Given the description of an element on the screen output the (x, y) to click on. 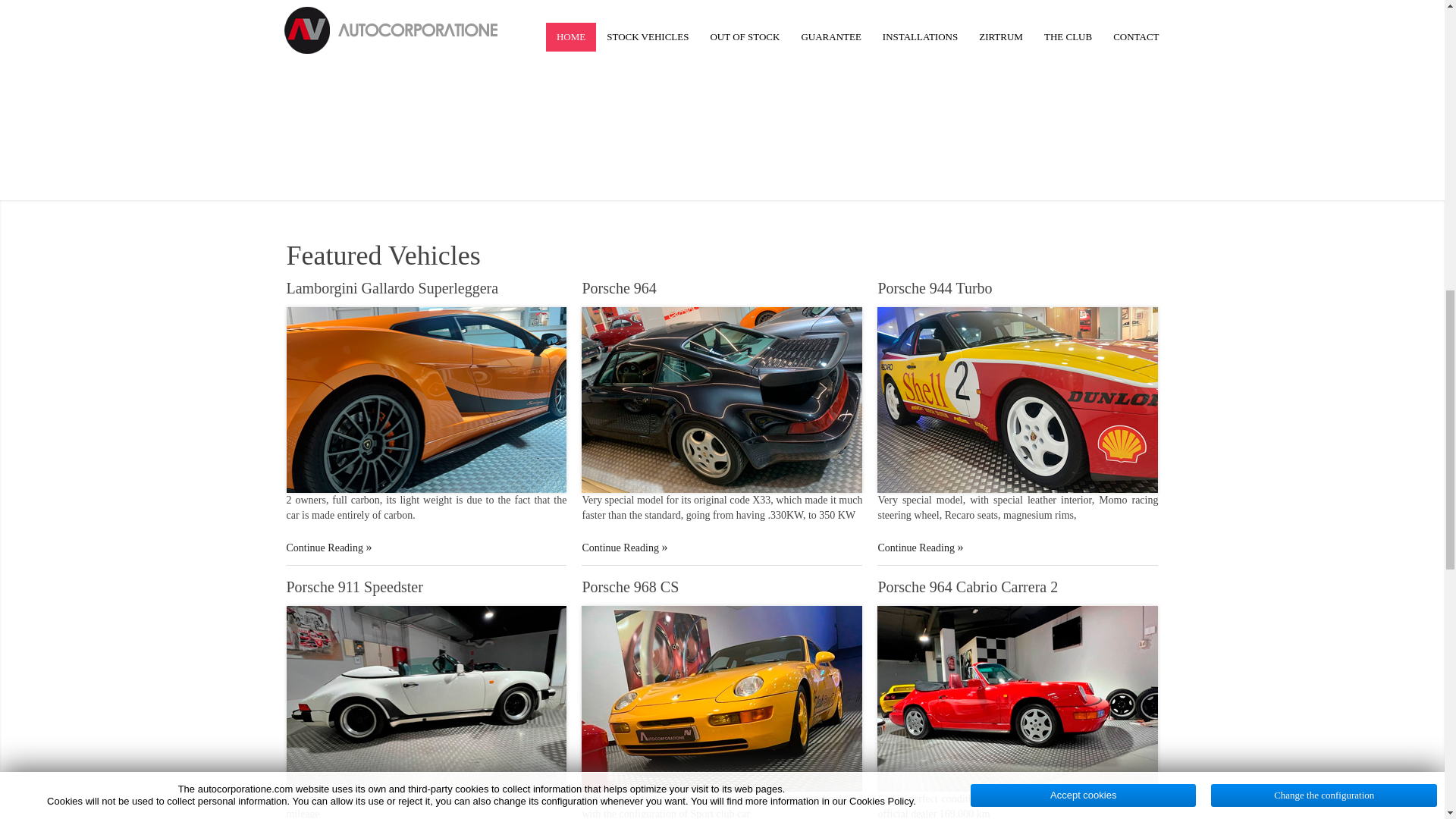
Porsche 964 (623, 547)
Porsche 944 Turbo (919, 547)
Porsche 964 (618, 288)
Porsche 964 (618, 288)
Porsche 944 Turbo (934, 288)
Porsche 968 CS (629, 586)
Porsche 911 Speedster (354, 586)
Continue Reading (623, 547)
 Porsche 964 Cabrio Carrera 2  (967, 586)
Lamborgini Gallardo Superleggera (329, 547)
Continue Reading (329, 547)
Porsche 911 Speedster (354, 586)
Porsche 968 CS  (629, 586)
Lamborgini Gallardo Superleggera (392, 288)
Lamborgini Gallardo Superleggera (392, 288)
